Given the description of an element on the screen output the (x, y) to click on. 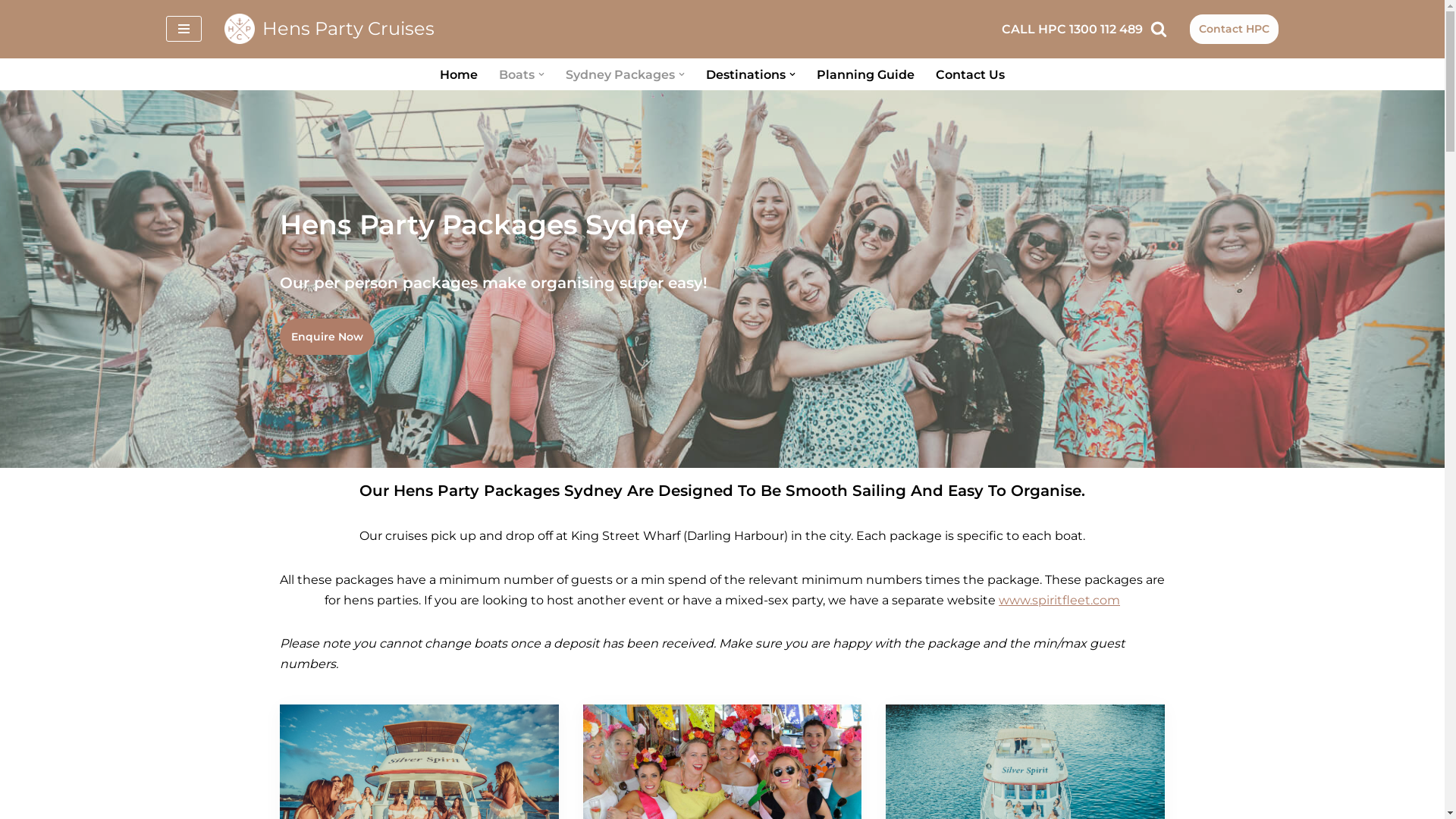
Planning Guide Element type: text (865, 74)
Contact Us Element type: text (969, 74)
Sydney Packages Element type: text (619, 74)
Home Element type: text (458, 74)
Enquire Now Element type: text (326, 336)
Navigation Menu Element type: text (183, 28)
Hens Party Cruises Element type: text (329, 28)
Destinations Element type: text (745, 74)
Contact HPC Element type: text (1233, 28)
Boats Element type: text (516, 74)
Skip to content Element type: text (11, 31)
www.spiritfleet.com Element type: text (1059, 600)
